Given the description of an element on the screen output the (x, y) to click on. 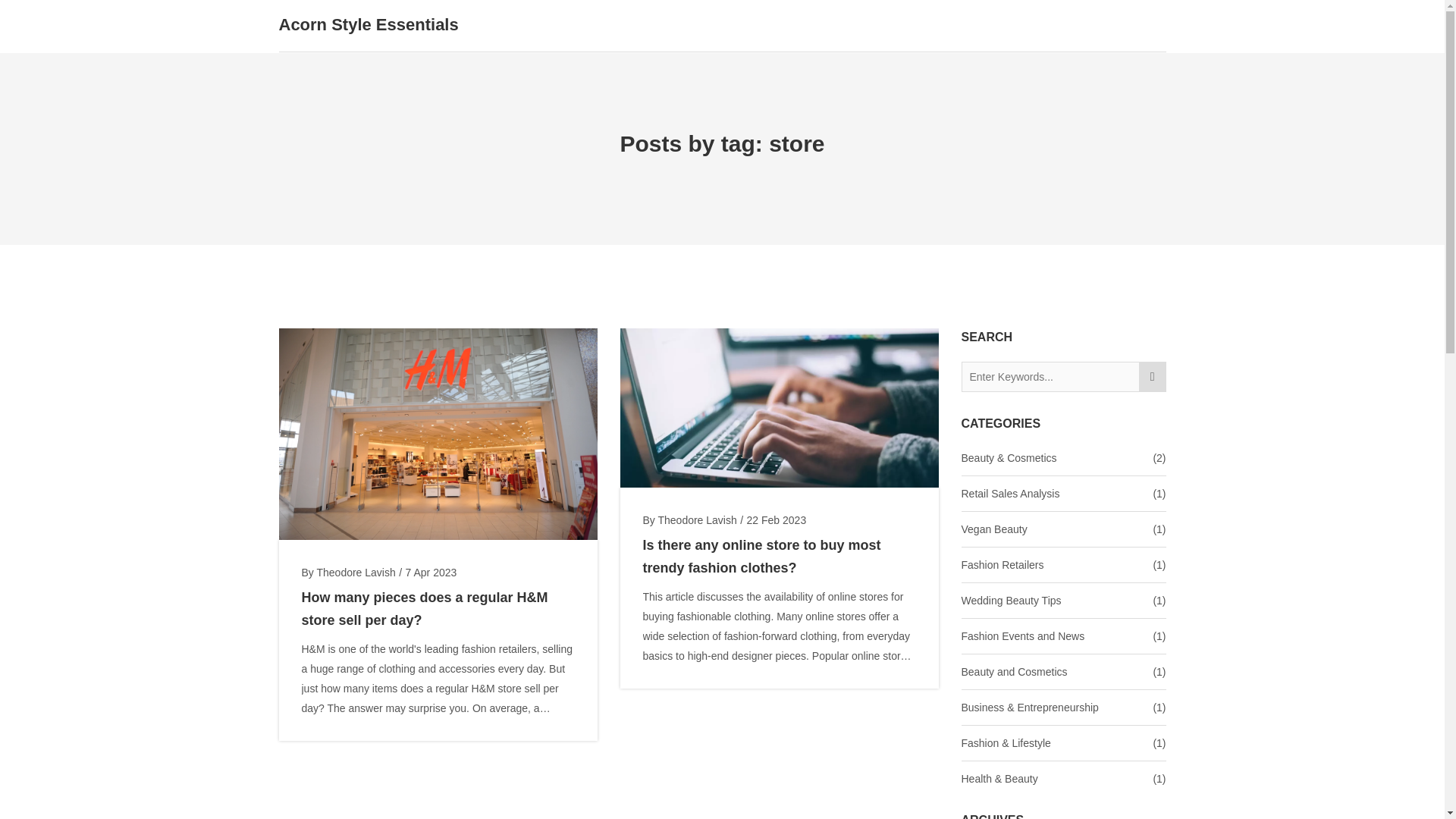
Acorn Style Essentials (368, 25)
